Given the description of an element on the screen output the (x, y) to click on. 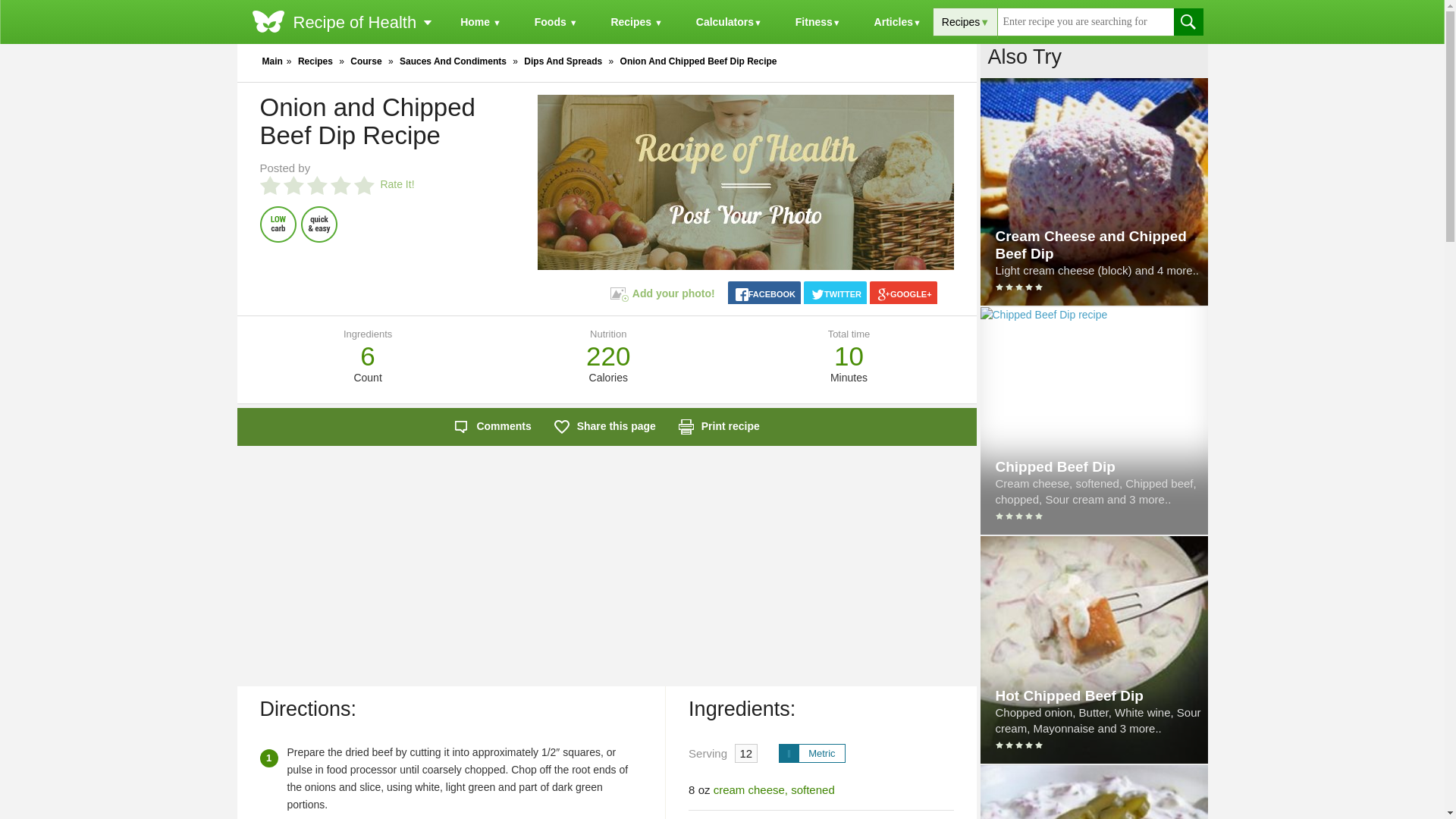
Share this page (605, 425)
cream cheese, softened (773, 789)
Dips And Spreads (563, 61)
Course (365, 61)
Nutrition (607, 333)
12 (746, 752)
FACEBOOK (764, 294)
Print recipe (719, 425)
Add your photo! (662, 293)
Ingredients (367, 333)
